Given the description of an element on the screen output the (x, y) to click on. 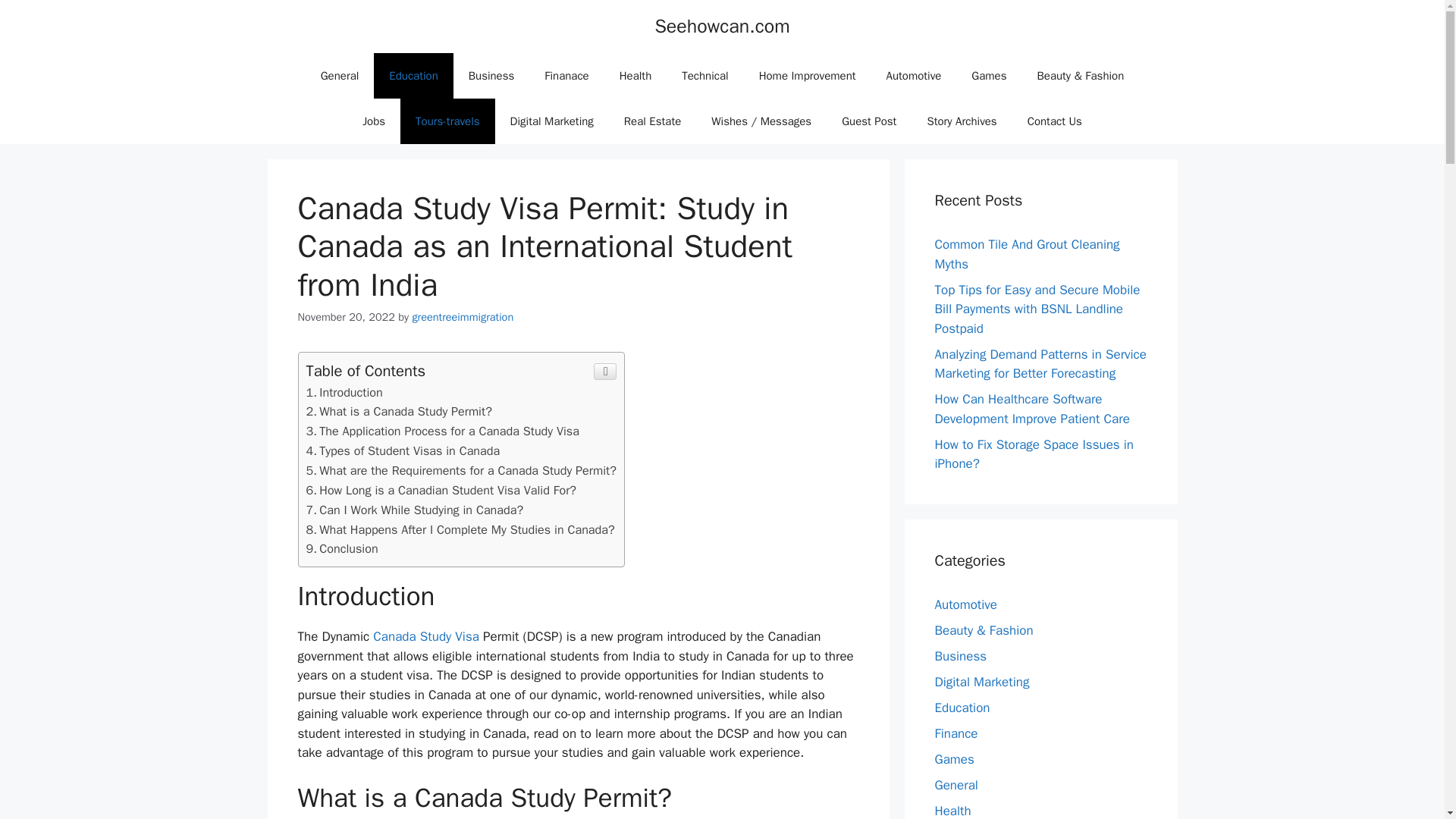
What are the Requirements for a Canada Study Permit? (460, 470)
Education (413, 75)
Types of Student Visas in Canada (402, 450)
Real Estate (651, 121)
Seehowcan.com (721, 25)
Business (490, 75)
The Application Process for a Canada Study Visa (442, 430)
Conclusion (341, 548)
Finanace (566, 75)
Automotive (913, 75)
